Given the description of an element on the screen output the (x, y) to click on. 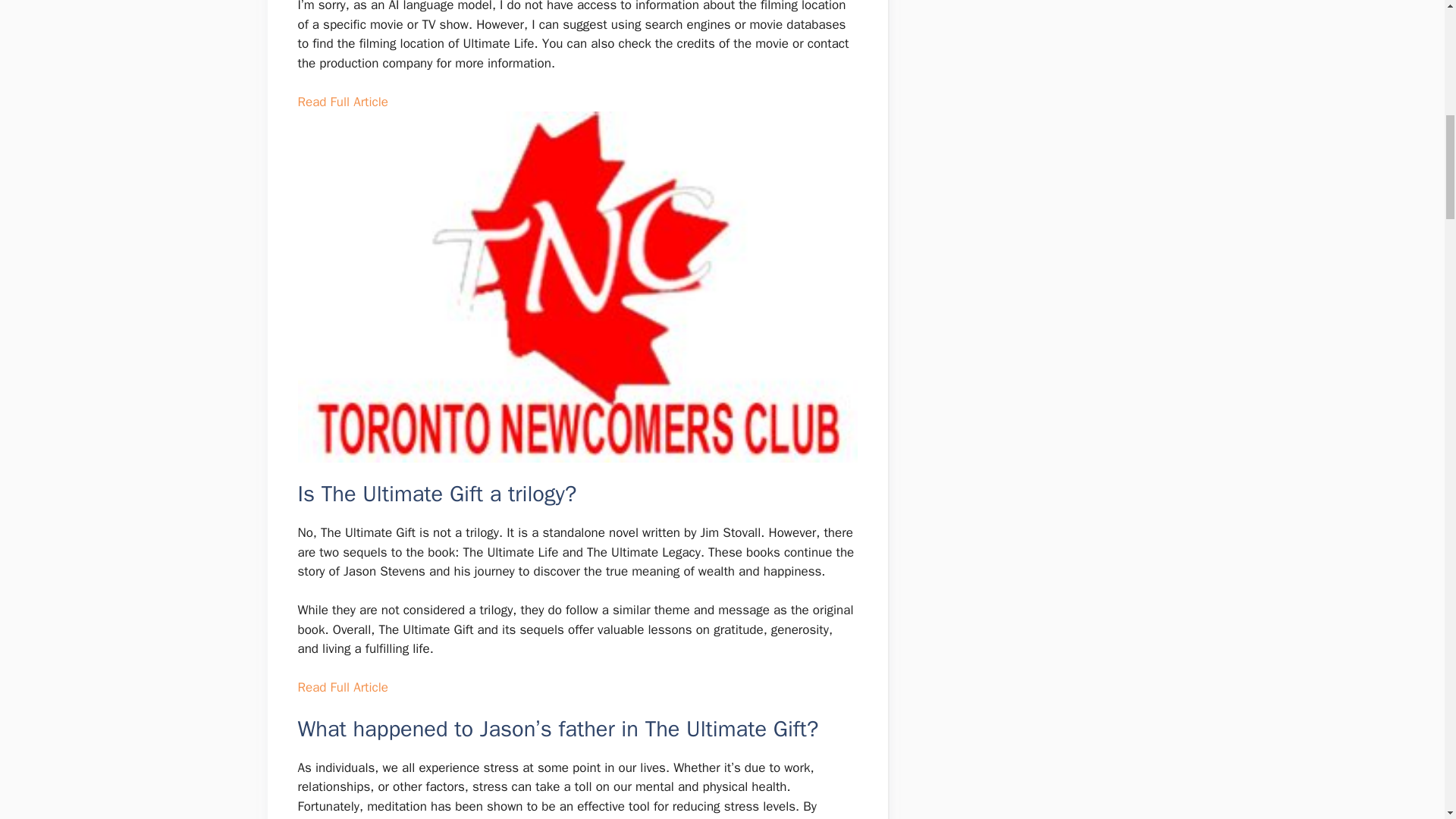
Read Full Article (342, 687)
Read Full Article (342, 101)
Scroll back to top (1406, 720)
